Given the description of an element on the screen output the (x, y) to click on. 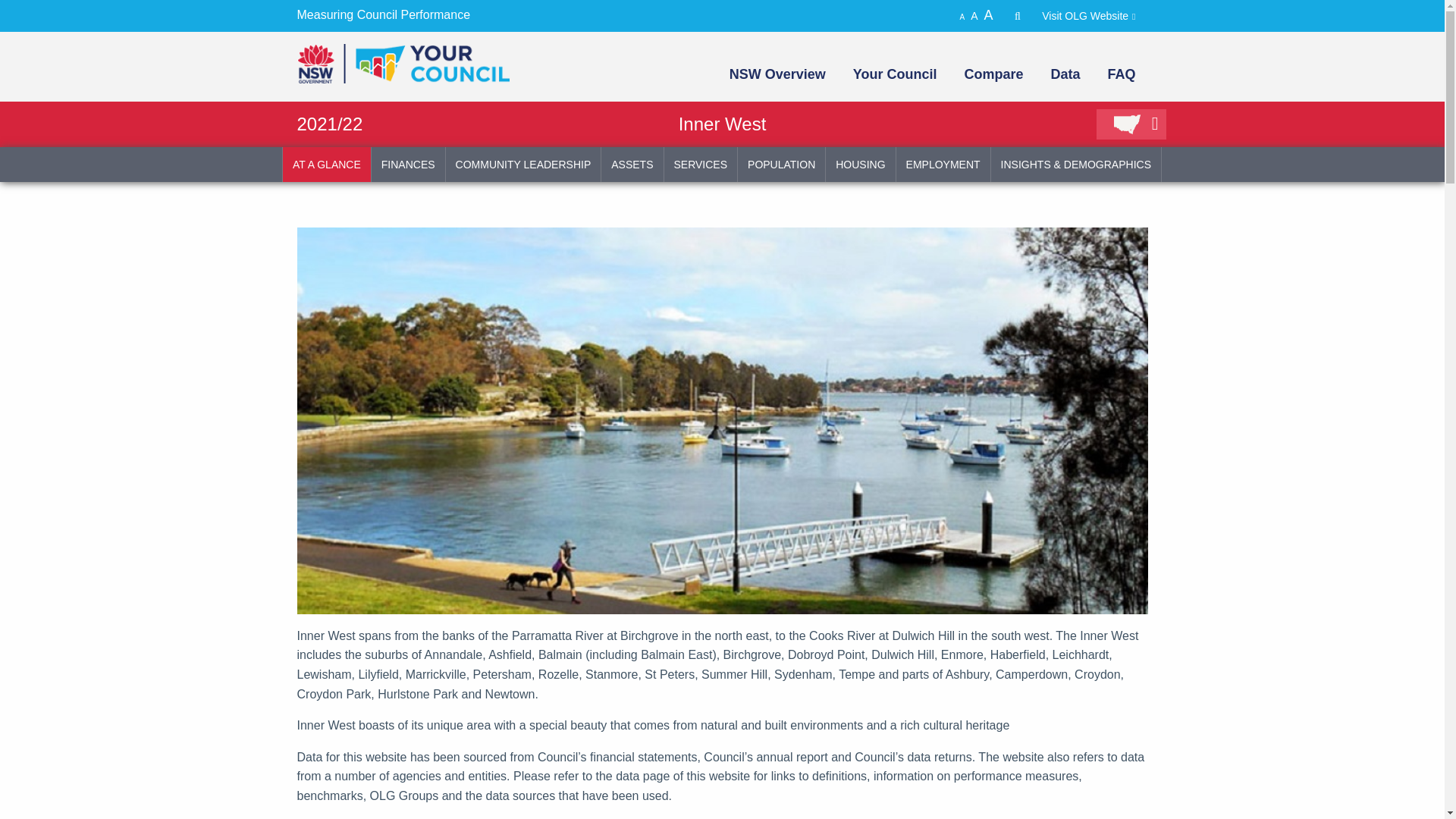
FINANCES (408, 164)
Data (1063, 73)
NSW Overview (776, 73)
COMMUNITY LEADERSHIP (523, 164)
Compare (992, 73)
FAQ (1119, 73)
HOUSING (860, 164)
Your Council (893, 73)
SERVICES (700, 164)
POPULATION (781, 164)
Visit OLG Website (1094, 15)
A (965, 17)
EMPLOYMENT (943, 164)
AT A GLANCE (326, 164)
ASSETS (631, 164)
